Given the description of an element on the screen output the (x, y) to click on. 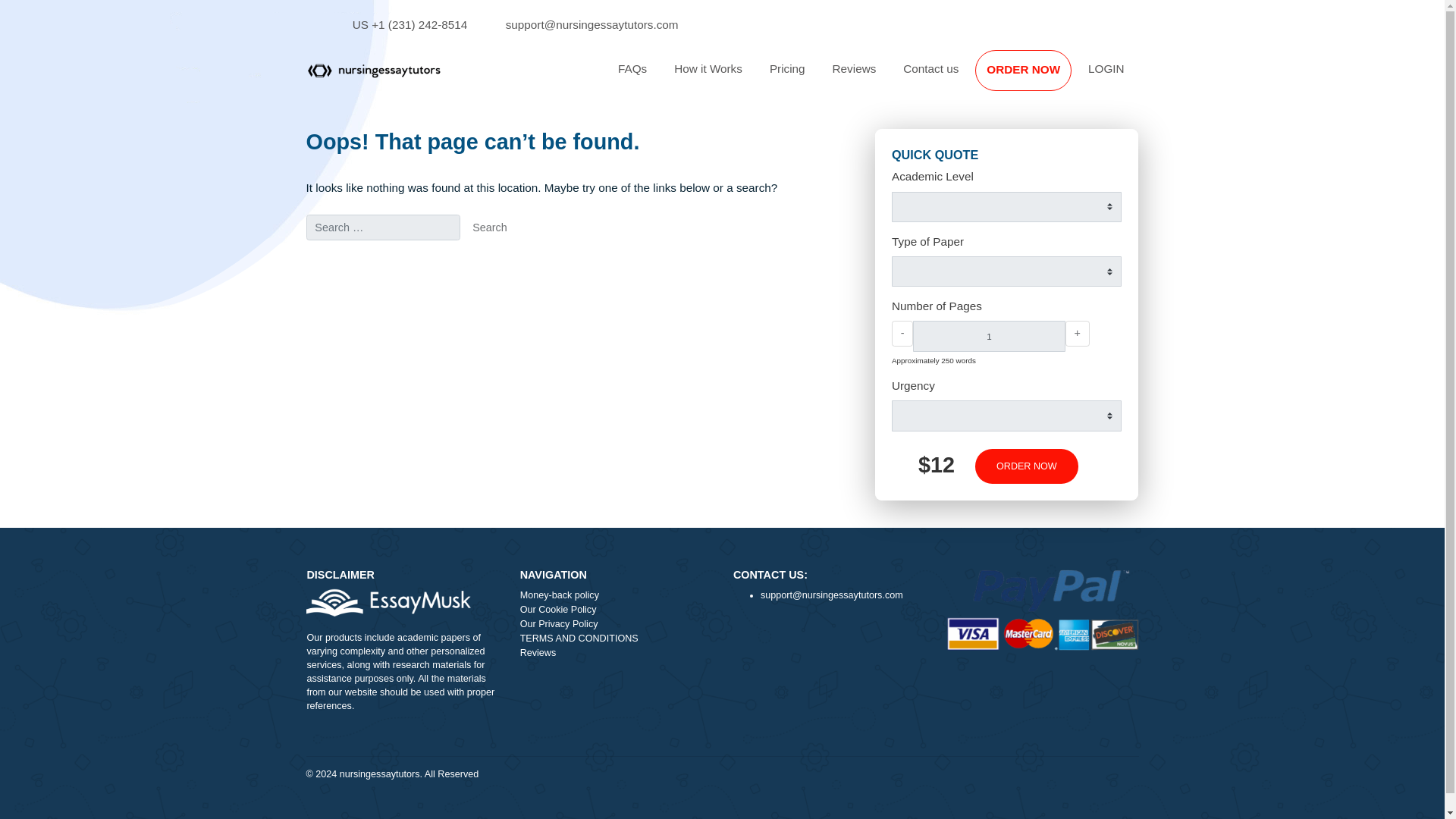
Our Privacy Policy (685, 693)
ORDER NOW (1137, 77)
Pricing (875, 76)
Our Cookie Policy (685, 678)
How it Works (786, 76)
1 (1098, 373)
ORDER NOW (1137, 77)
Search (544, 253)
Search (544, 253)
Search for: (425, 252)
